Given the description of an element on the screen output the (x, y) to click on. 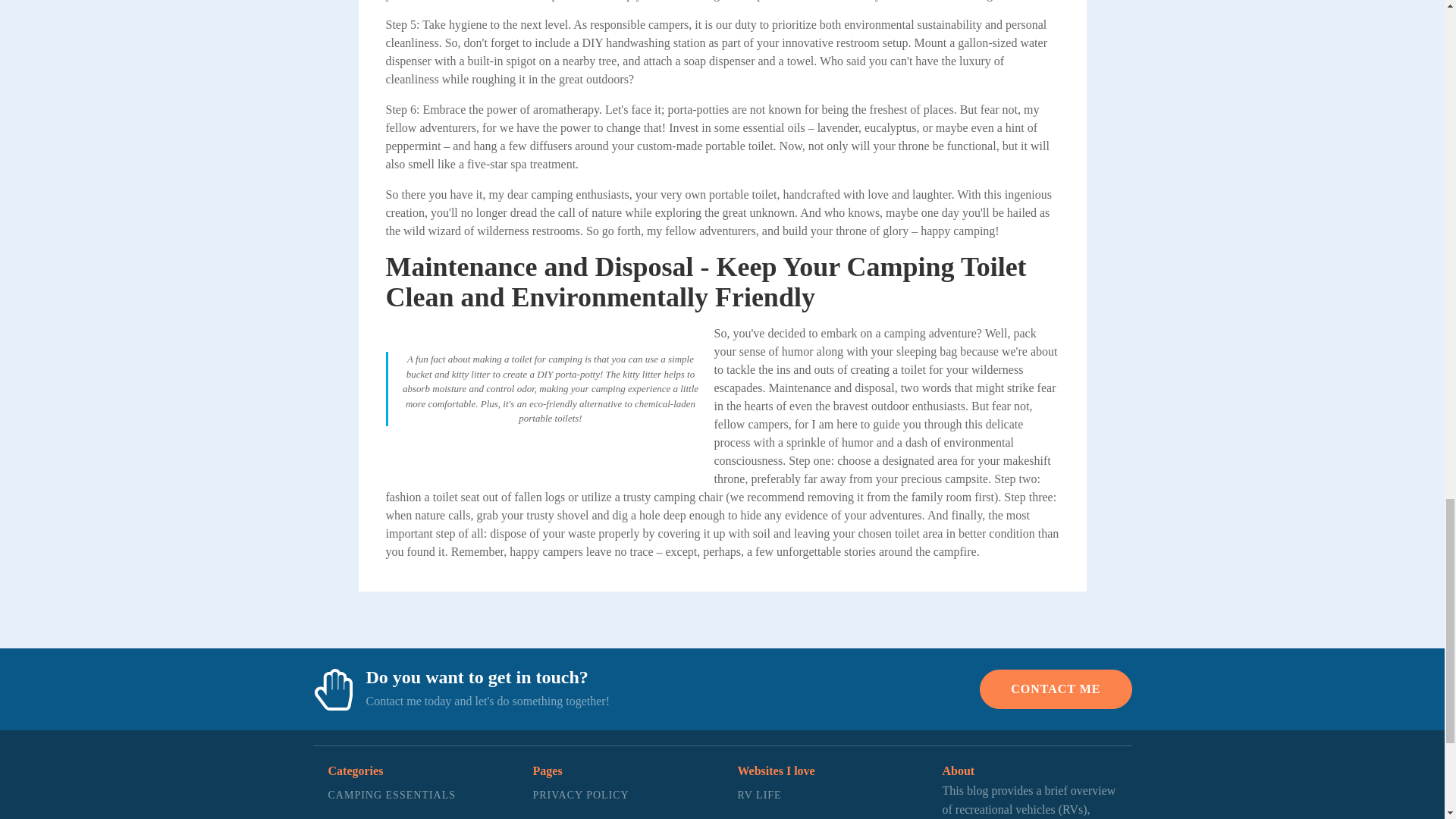
CONTACT ME (580, 814)
CONTACT ME (1055, 689)
RV LOVE (780, 814)
CAMPING ESSENTIALS (391, 795)
PRIVACY POLICY (580, 795)
RV LIFE (780, 795)
CAMPING ACTIVITIES (391, 814)
